Given the description of an element on the screen output the (x, y) to click on. 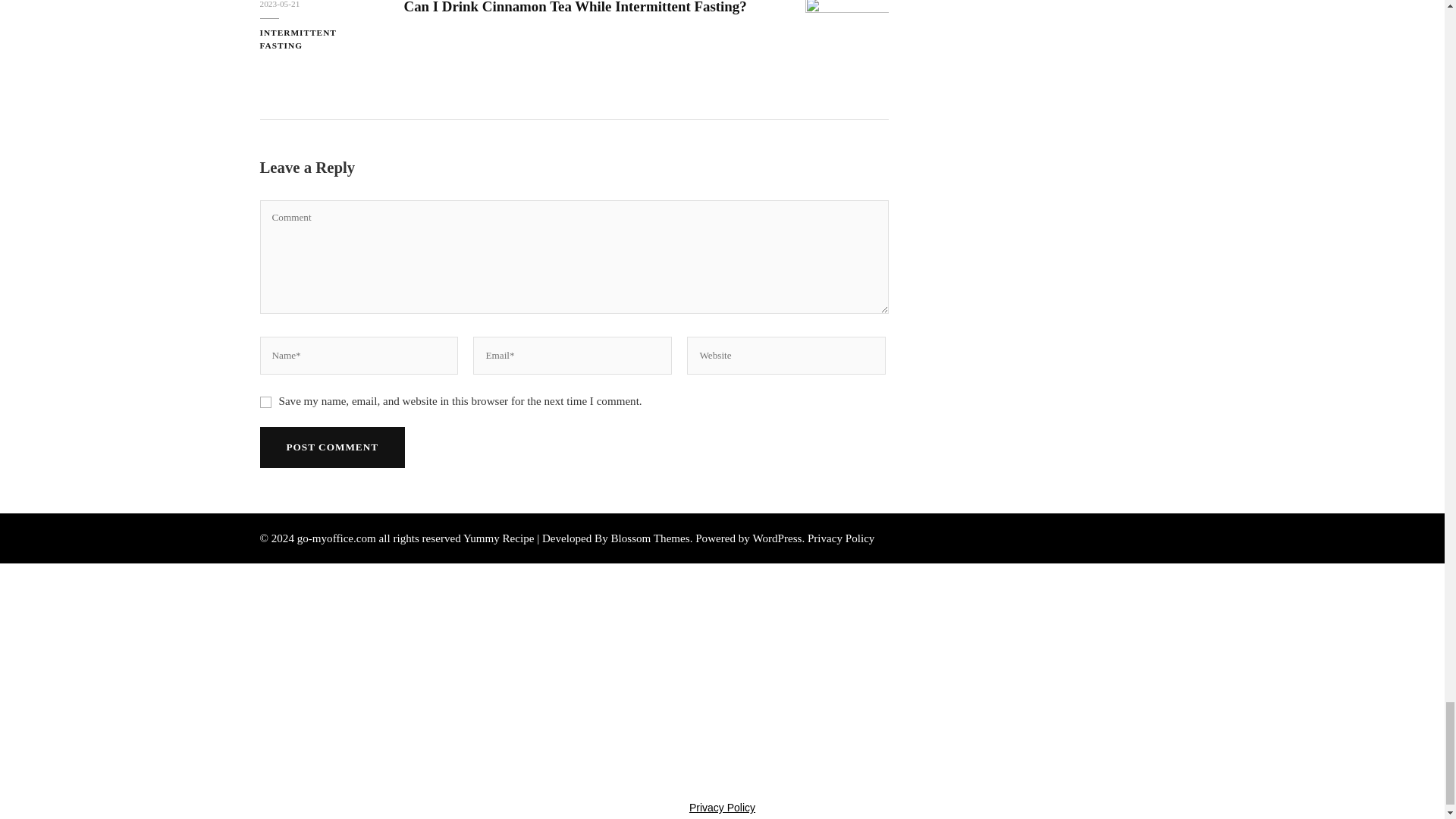
Post Comment (331, 446)
